Given the description of an element on the screen output the (x, y) to click on. 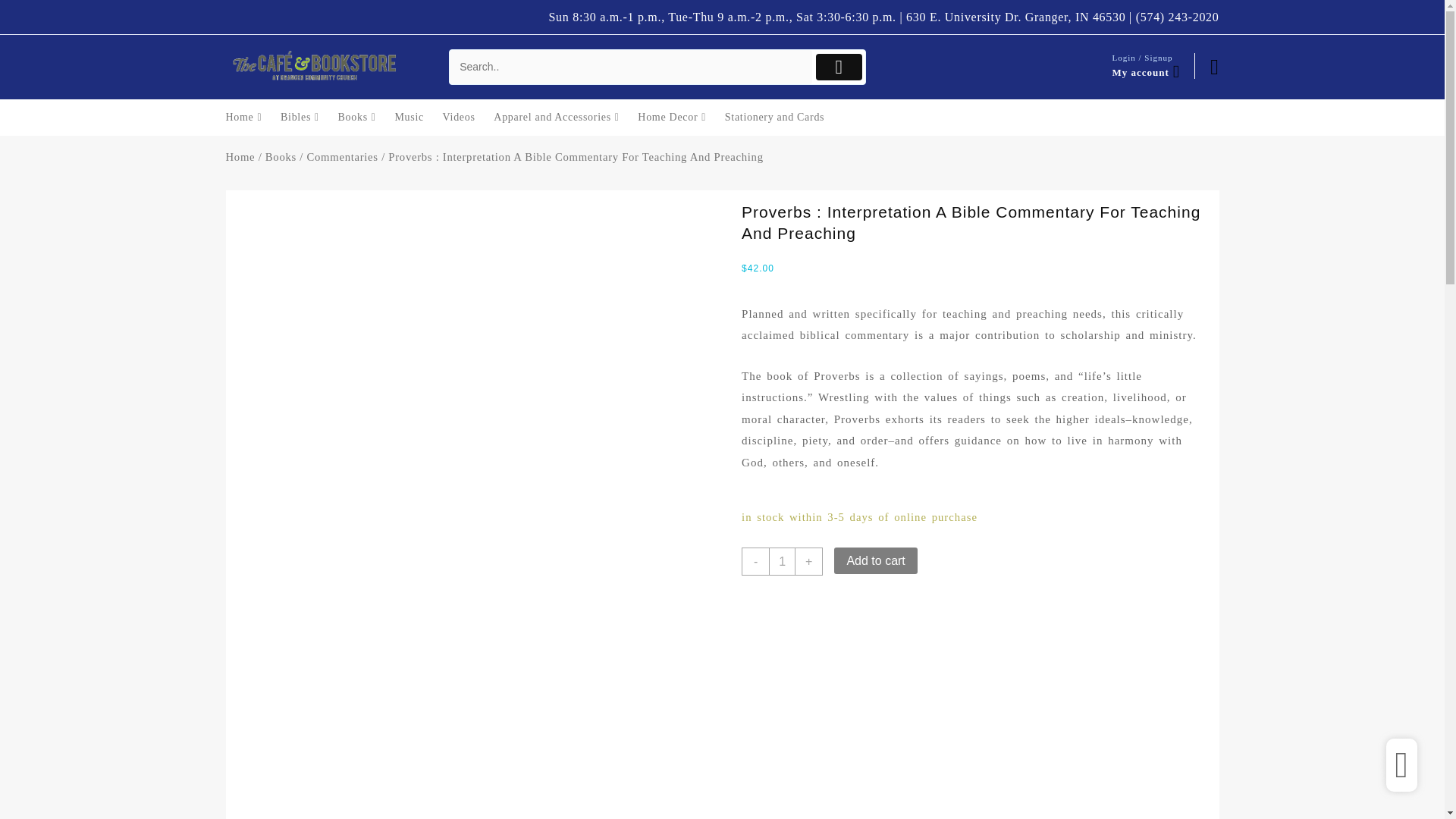
Submit (838, 67)
1 (781, 560)
630 E. University Dr. Granger, IN 46530 (1015, 16)
Search (630, 66)
